Given the description of an element on the screen output the (x, y) to click on. 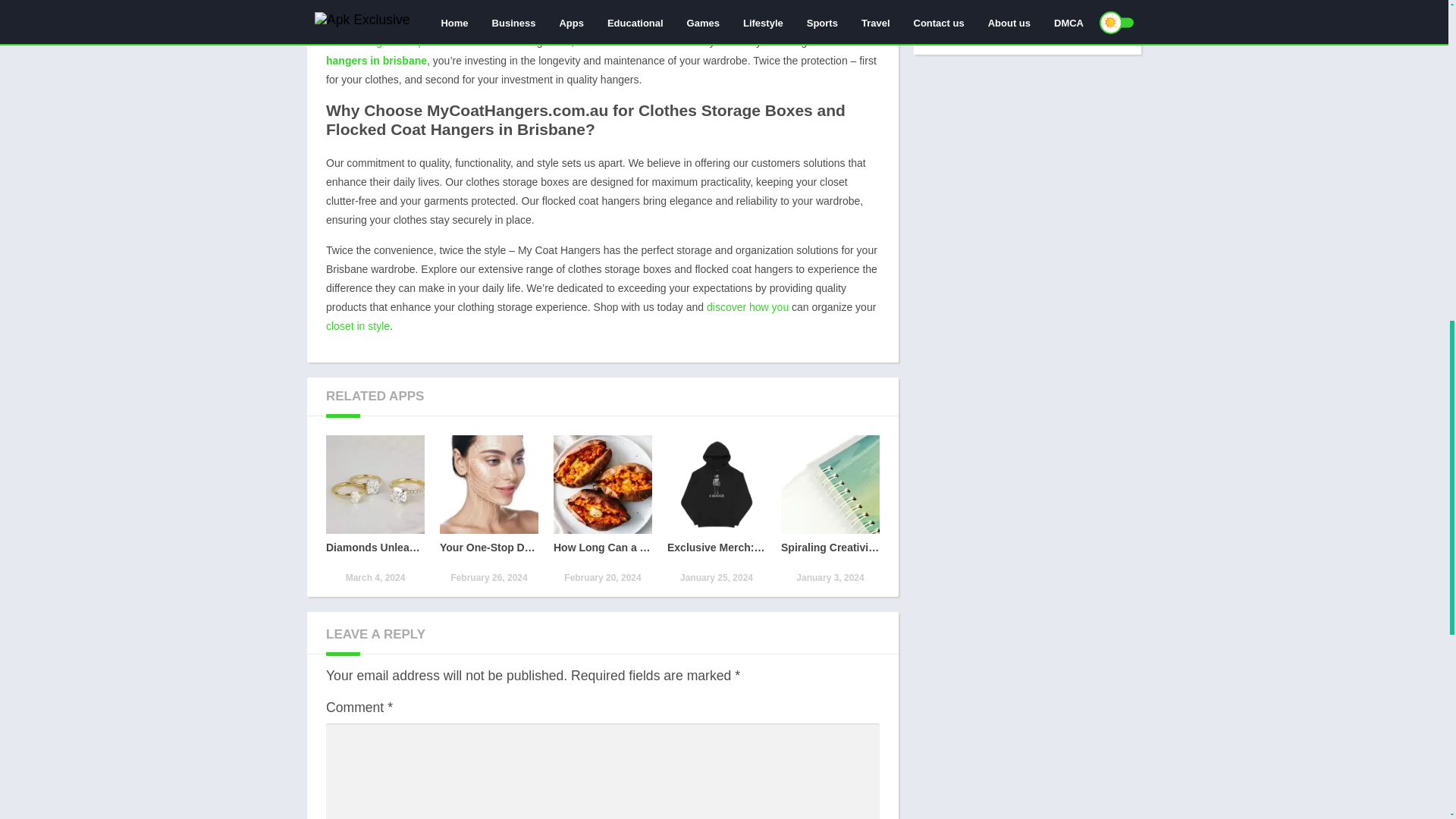
Your One-Stop Destination for All Your Cosmetic Filler Needs (488, 509)
Diamonds Unleashed: A Guide to Diamond Loose Stones (375, 509)
hangers are perfect (403, 41)
